Given the description of an element on the screen output the (x, y) to click on. 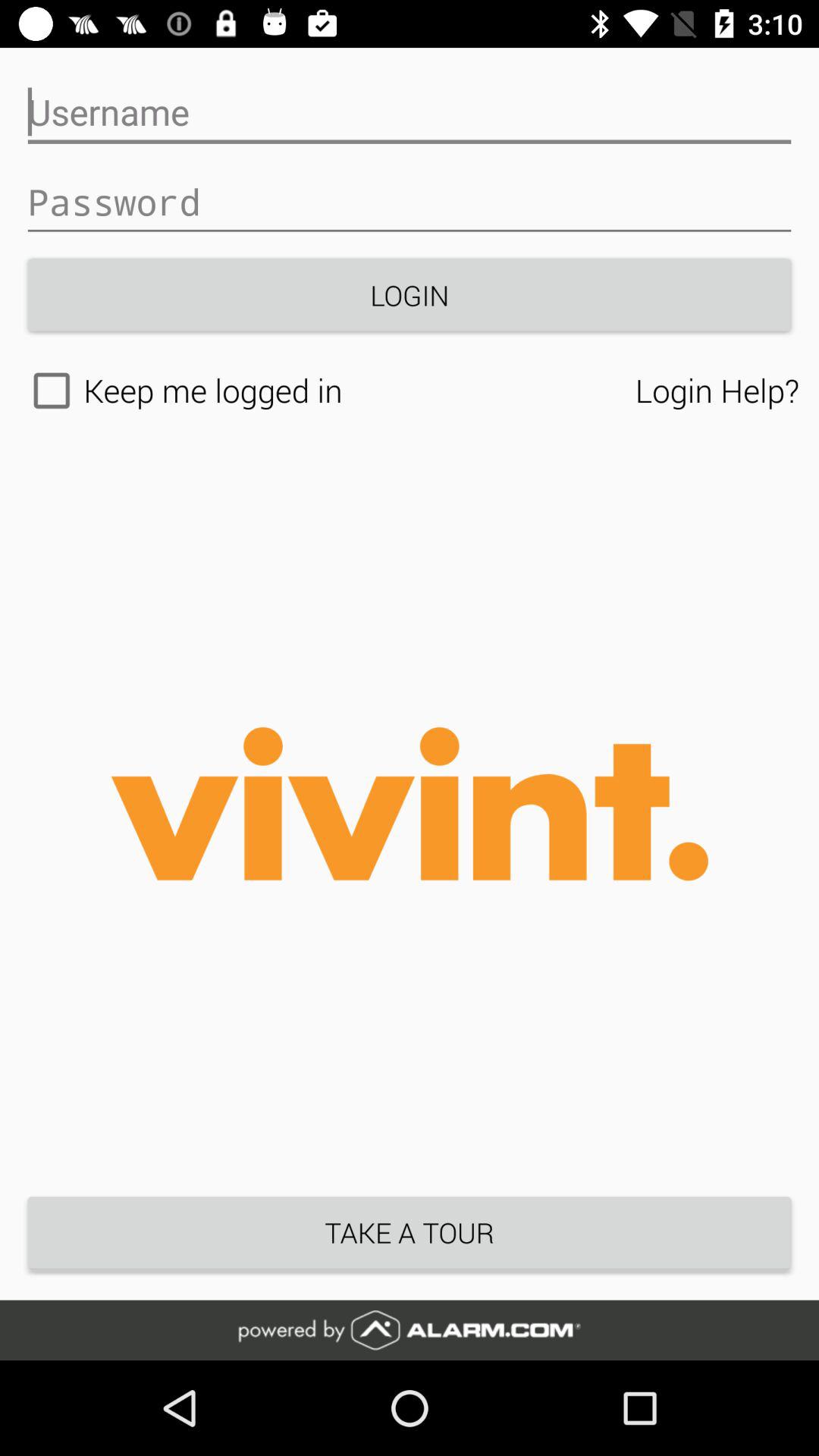
press the item below login icon (717, 390)
